Given the description of an element on the screen output the (x, y) to click on. 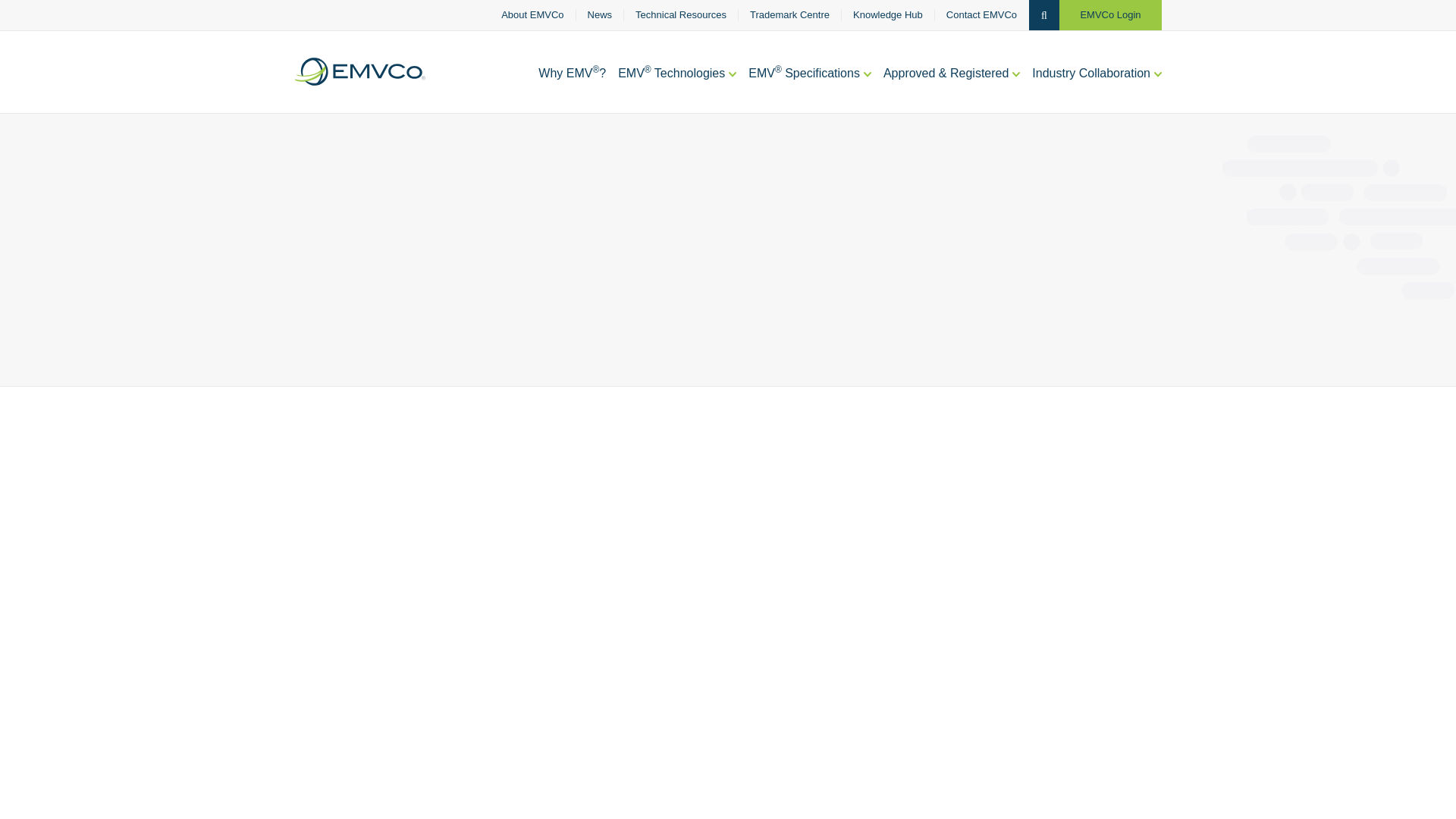
Contact EMVCo (981, 15)
Trademark Centre (789, 15)
About EMVCo (531, 15)
EMVCo Logo (360, 71)
Knowledge Hub (888, 15)
EMVCo Login (1110, 15)
Industry Collaboration (1096, 89)
News (600, 15)
Technical Resources (680, 15)
